Given the description of an element on the screen output the (x, y) to click on. 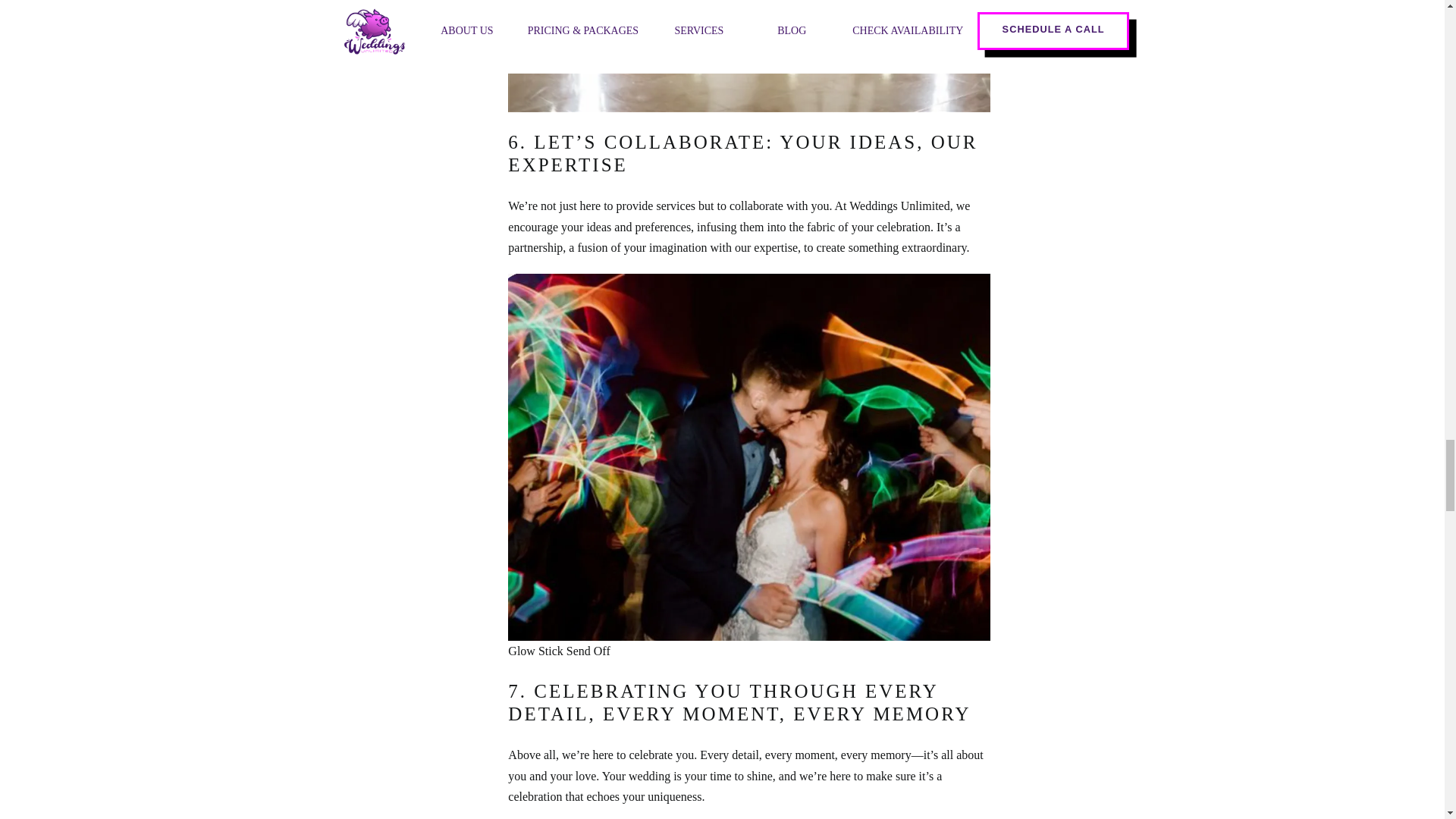
cold sparks wedding couple cowboy hat (749, 56)
